Given the description of an element on the screen output the (x, y) to click on. 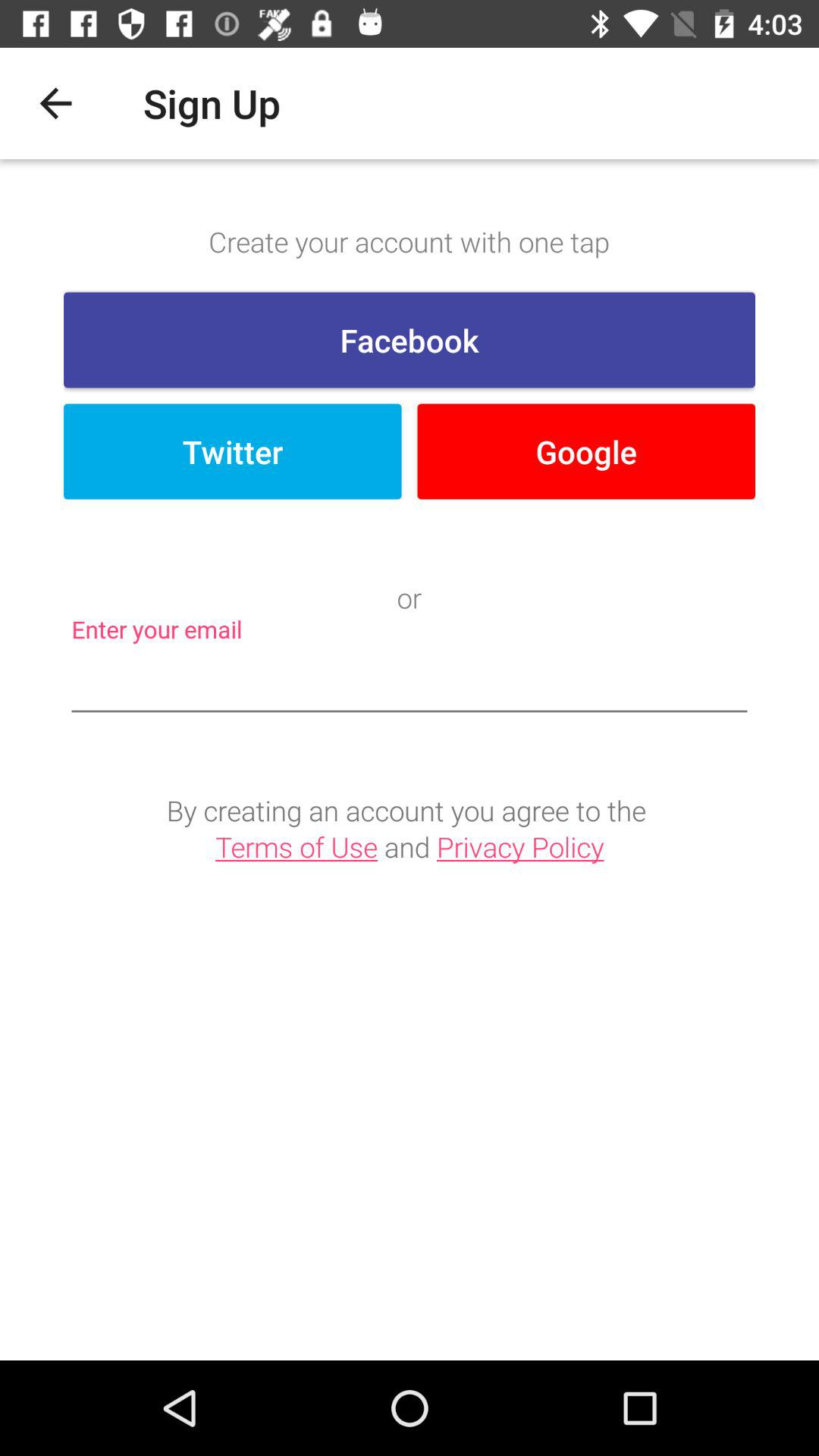
email text box (409, 683)
